Given the description of an element on the screen output the (x, y) to click on. 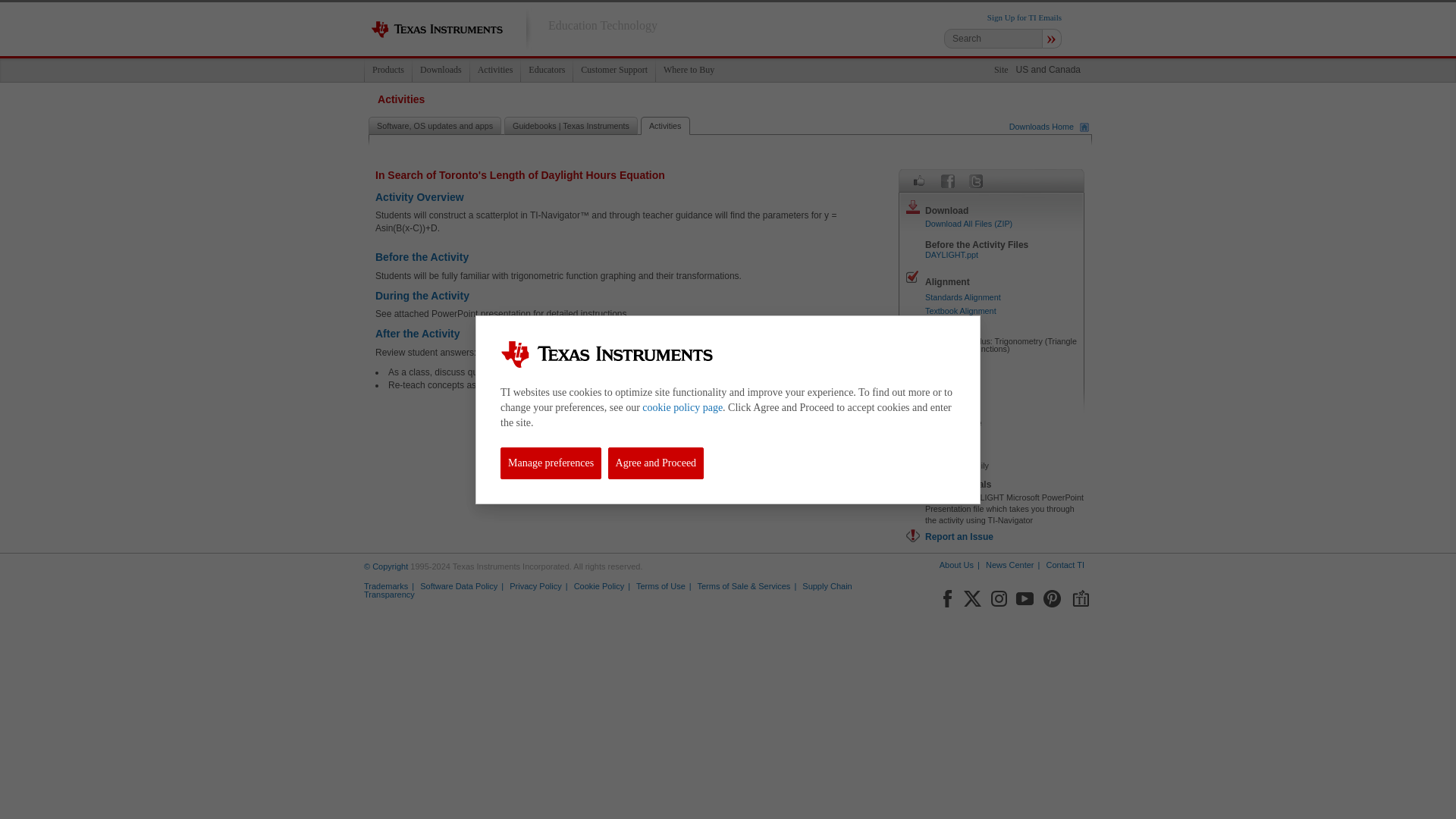
Activities (494, 69)
Instagram (998, 595)
Pinterest (1052, 595)
Educators (545, 69)
Recommend Activity (919, 180)
YouTube (1025, 595)
Facebook (946, 595)
Downloads (440, 69)
Sign Up for TI Emails (1024, 17)
Facebook (947, 180)
